Given the description of an element on the screen output the (x, y) to click on. 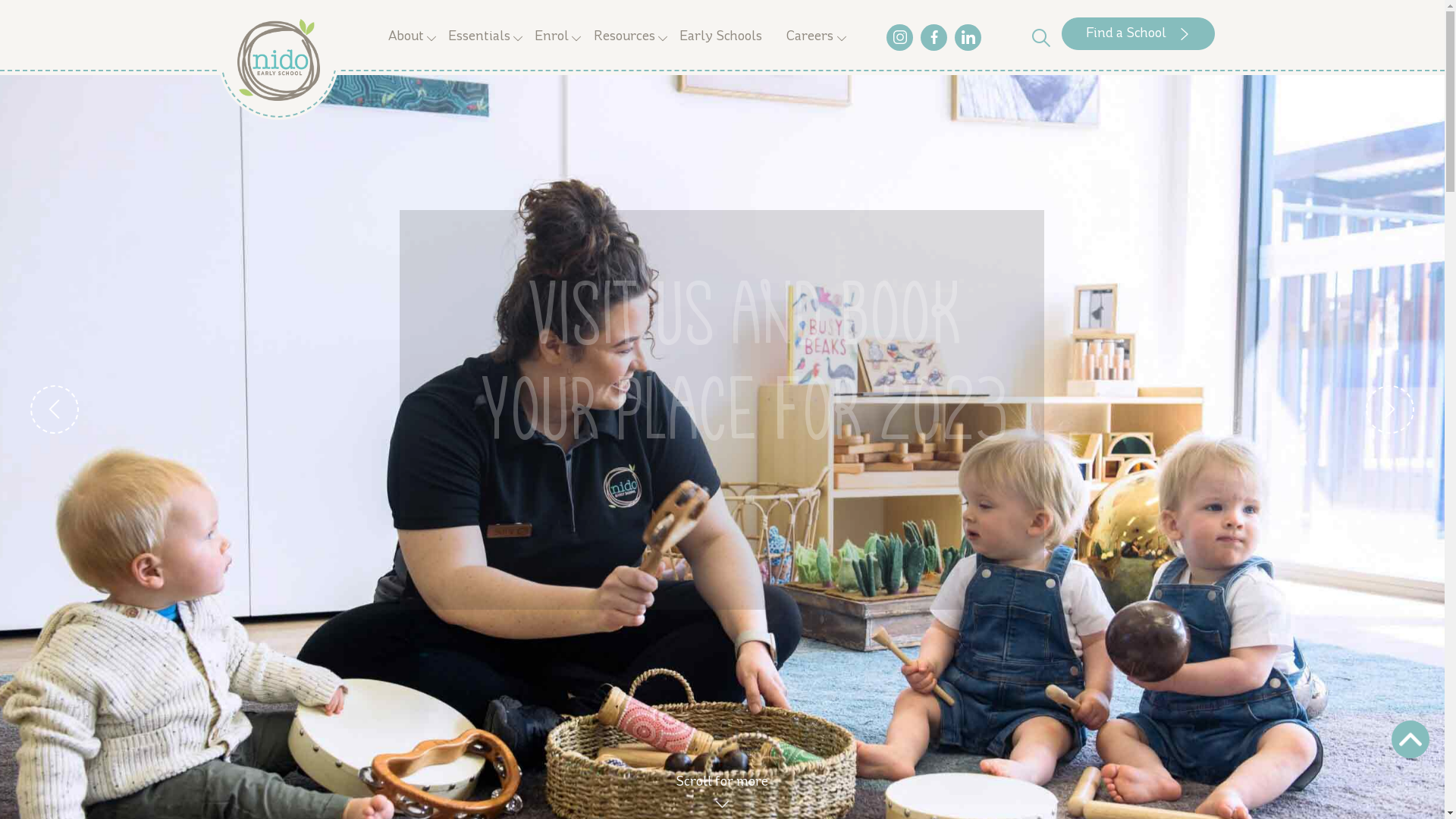
Essentials Element type: text (479, 37)
Enrol Element type: text (551, 37)
Scroll for more Element type: text (721, 789)
Resources Element type: text (623, 37)
Find a School Element type: text (721, 548)
Early Schools Element type: text (720, 37)
Careers Element type: text (809, 37)
Scroll Element type: text (1410, 739)
Next Element type: text (1389, 409)
Find a School Element type: text (1137, 33)
Previous Element type: text (54, 409)
About Element type: text (405, 37)
